Given the description of an element on the screen output the (x, y) to click on. 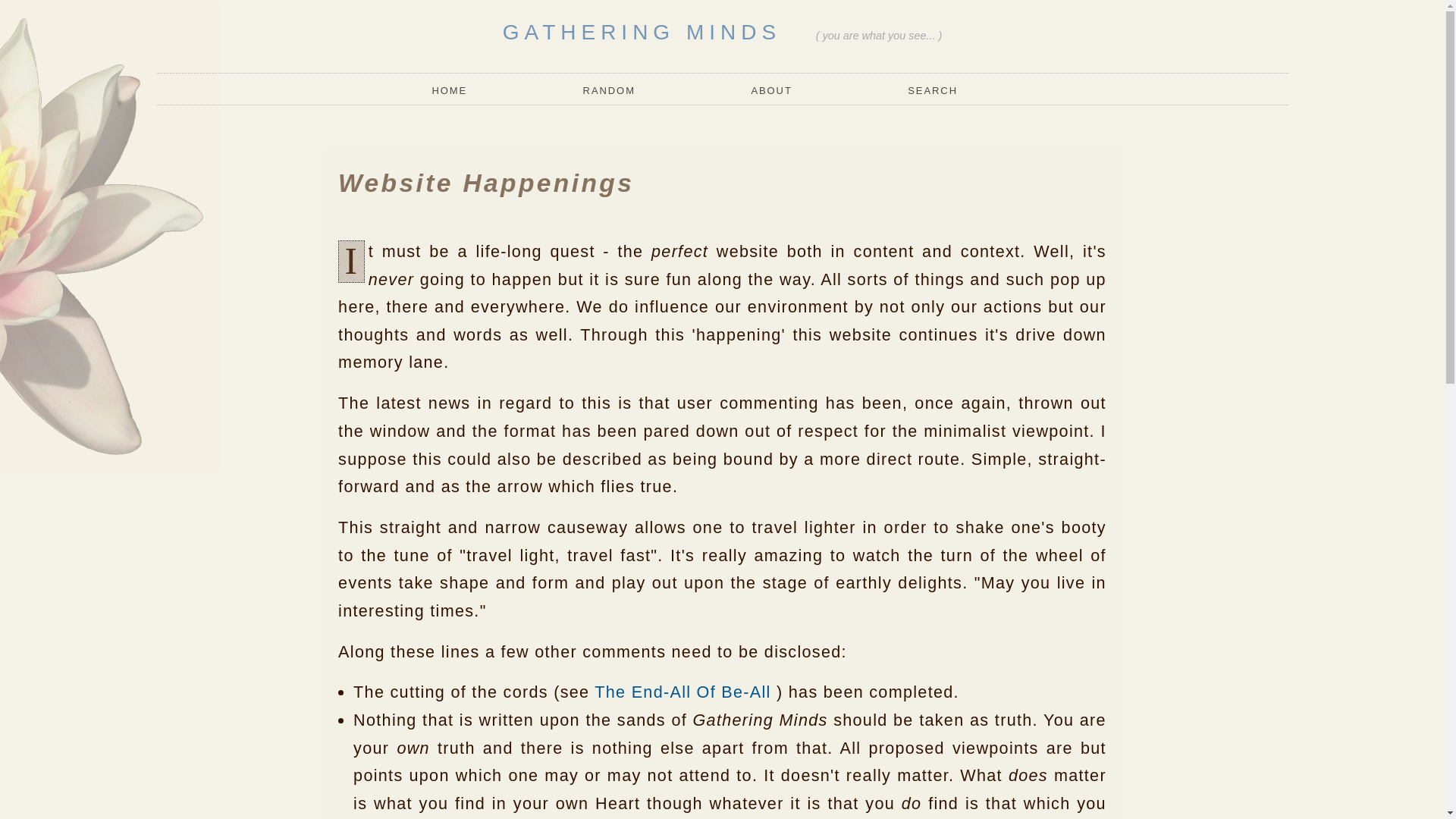
about (771, 91)
home (454, 91)
The End-All Of Be-All (682, 691)
random (609, 91)
GATHERING MINDS (641, 32)
search (932, 91)
